Given the description of an element on the screen output the (x, y) to click on. 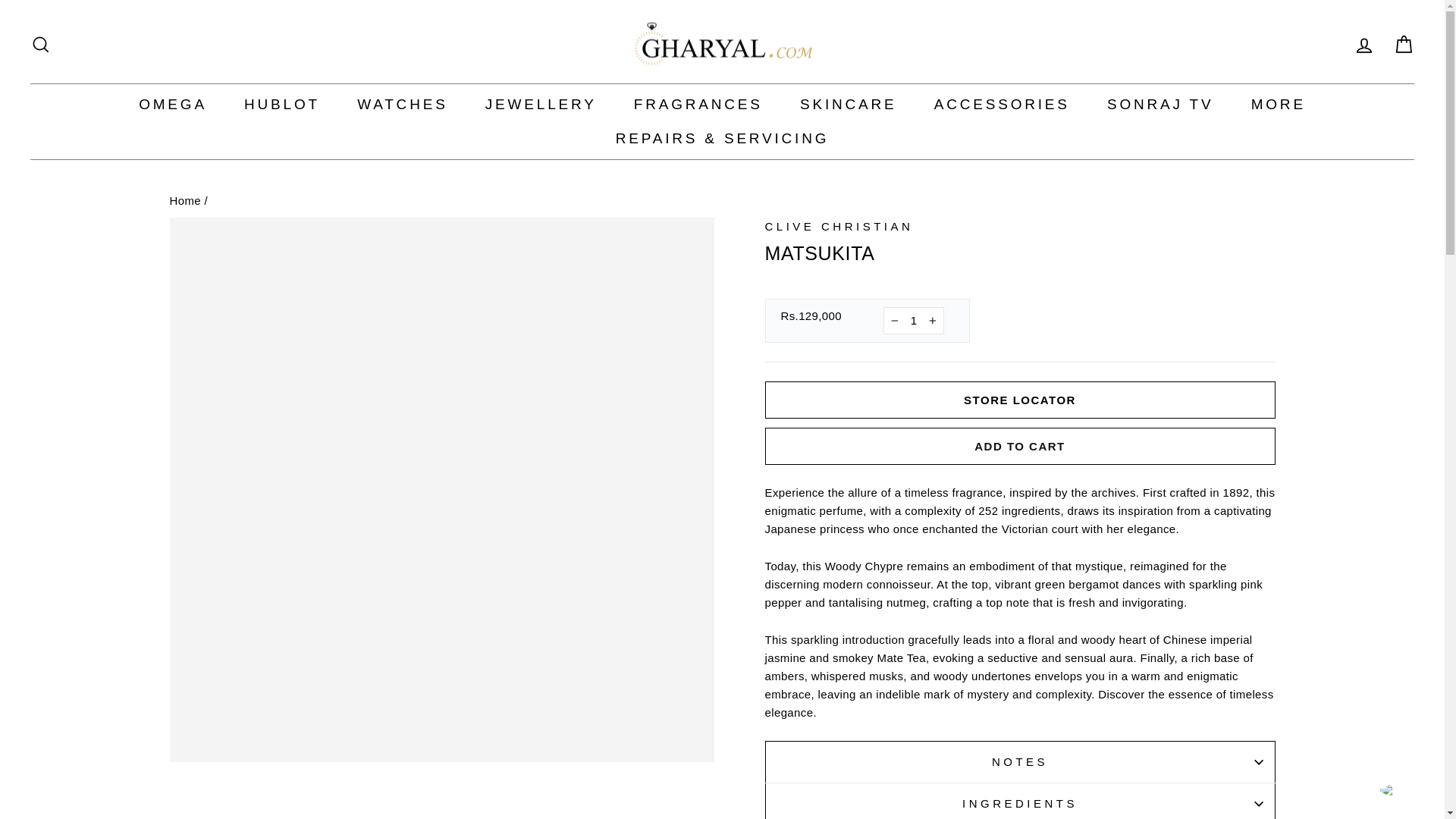
1 (913, 320)
Back to the frontpage (186, 200)
